Given the description of an element on the screen output the (x, y) to click on. 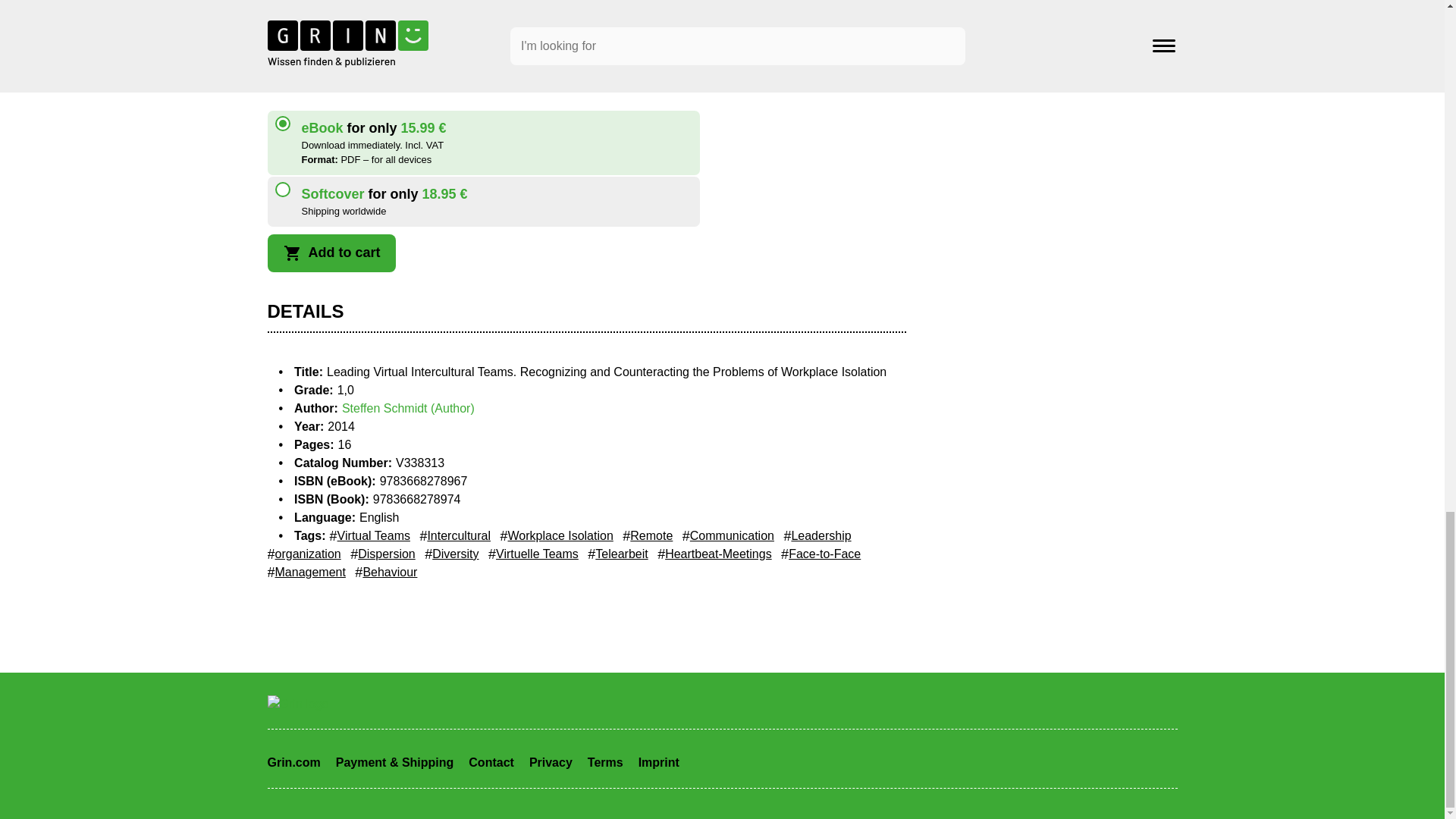
organization (303, 554)
Workplace Isolation (555, 536)
Add to cart (330, 252)
Diversity (452, 554)
Management (305, 572)
Heartbeat-Meetings (714, 554)
Intercultural (454, 536)
Remote (647, 536)
Dispersion (382, 554)
Telearbeit (617, 554)
Face-to-Face (820, 554)
scroll top (449, 70)
Communication (728, 536)
Virtual Teams (370, 536)
Virtuelle Teams (532, 554)
